Given the description of an element on the screen output the (x, y) to click on. 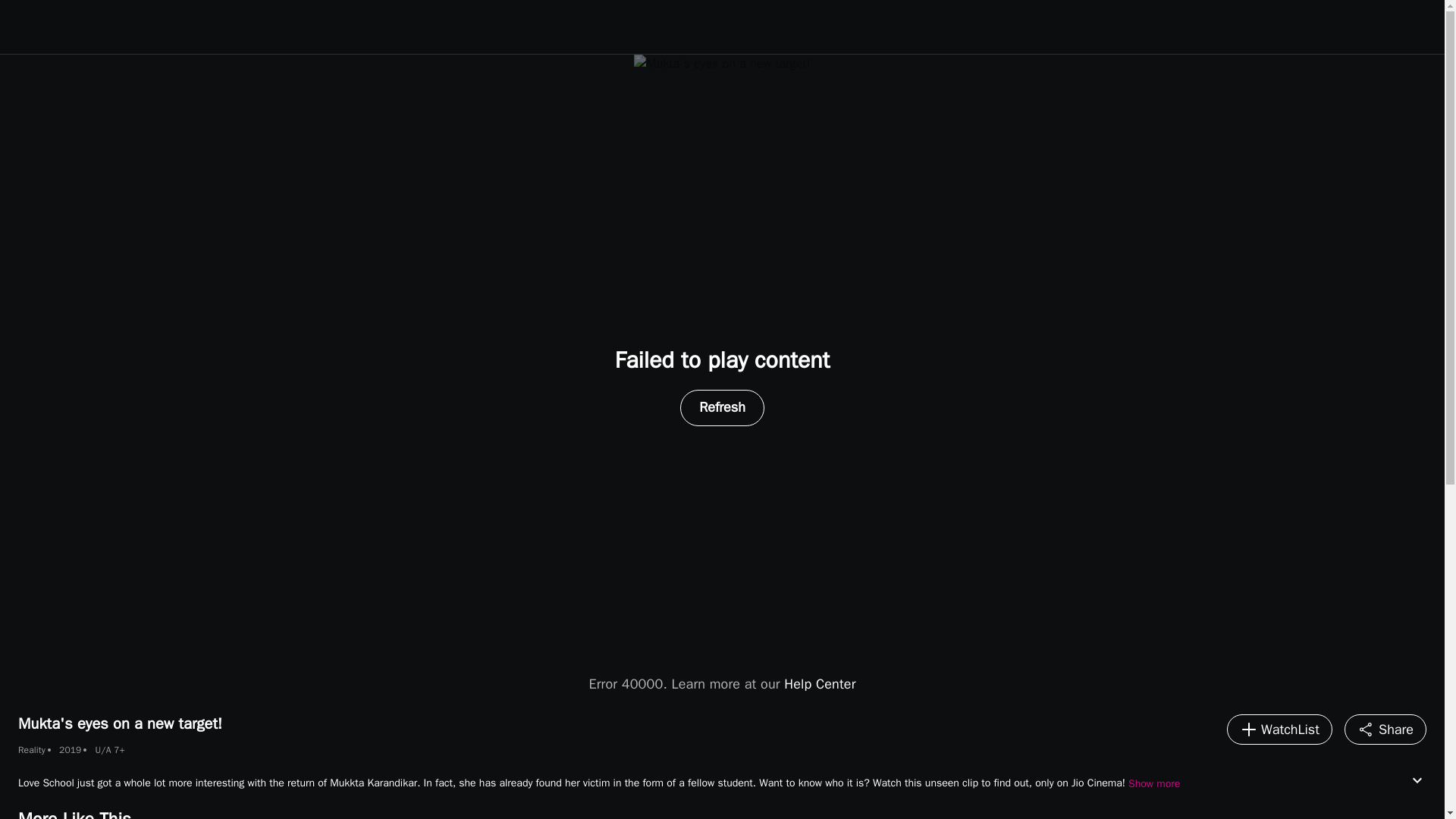
WatchList (1279, 729)
Refresh (721, 407)
Share (1384, 729)
